Given the description of an element on the screen output the (x, y) to click on. 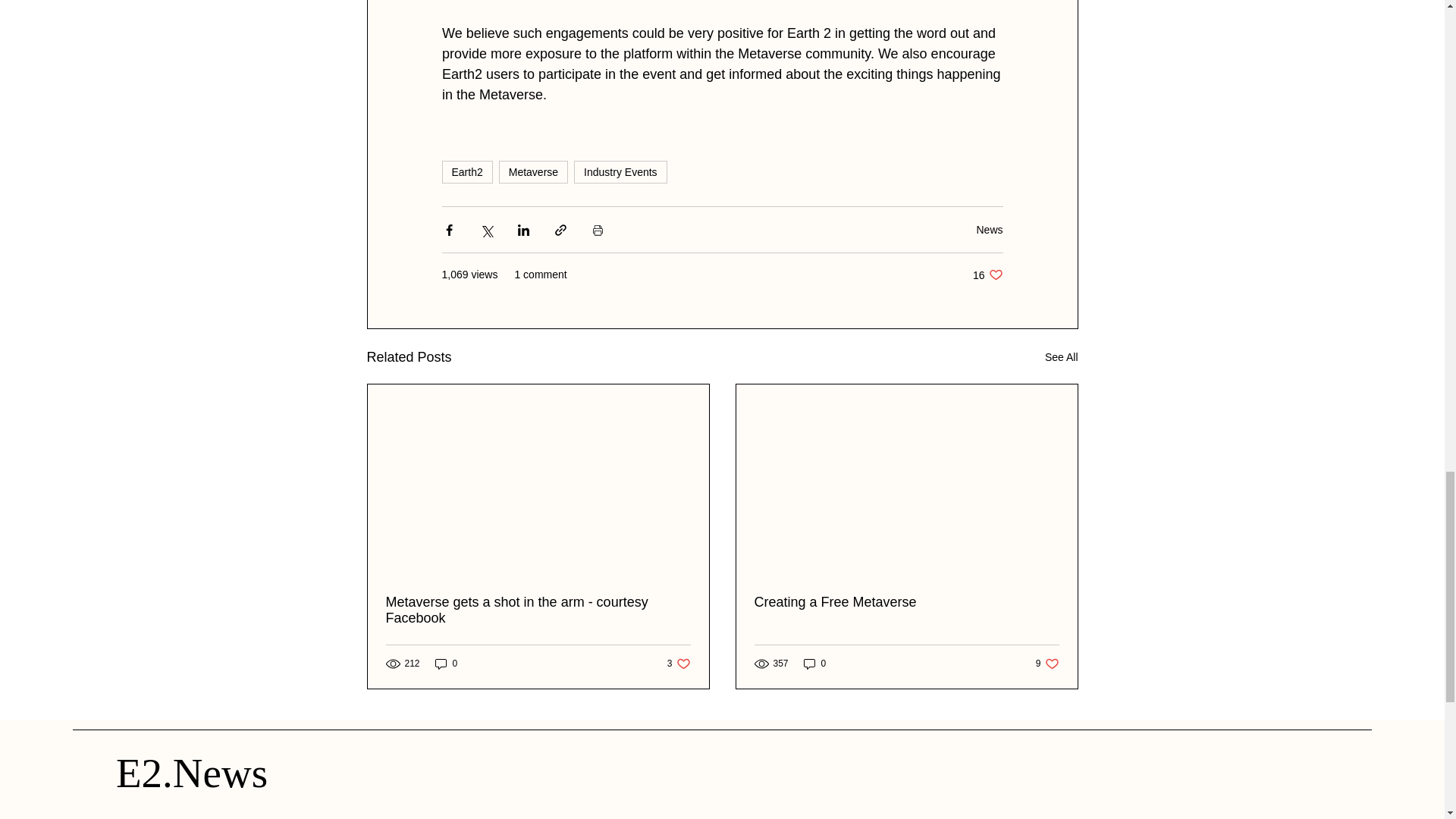
News (678, 663)
Metaverse gets a shot in the arm - courtesy Facebook (989, 229)
See All (537, 610)
Industry Events (1061, 357)
Metaverse (987, 274)
0 (619, 171)
Earth2 (533, 171)
Creating a Free Metaverse (446, 663)
